Given the description of an element on the screen output the (x, y) to click on. 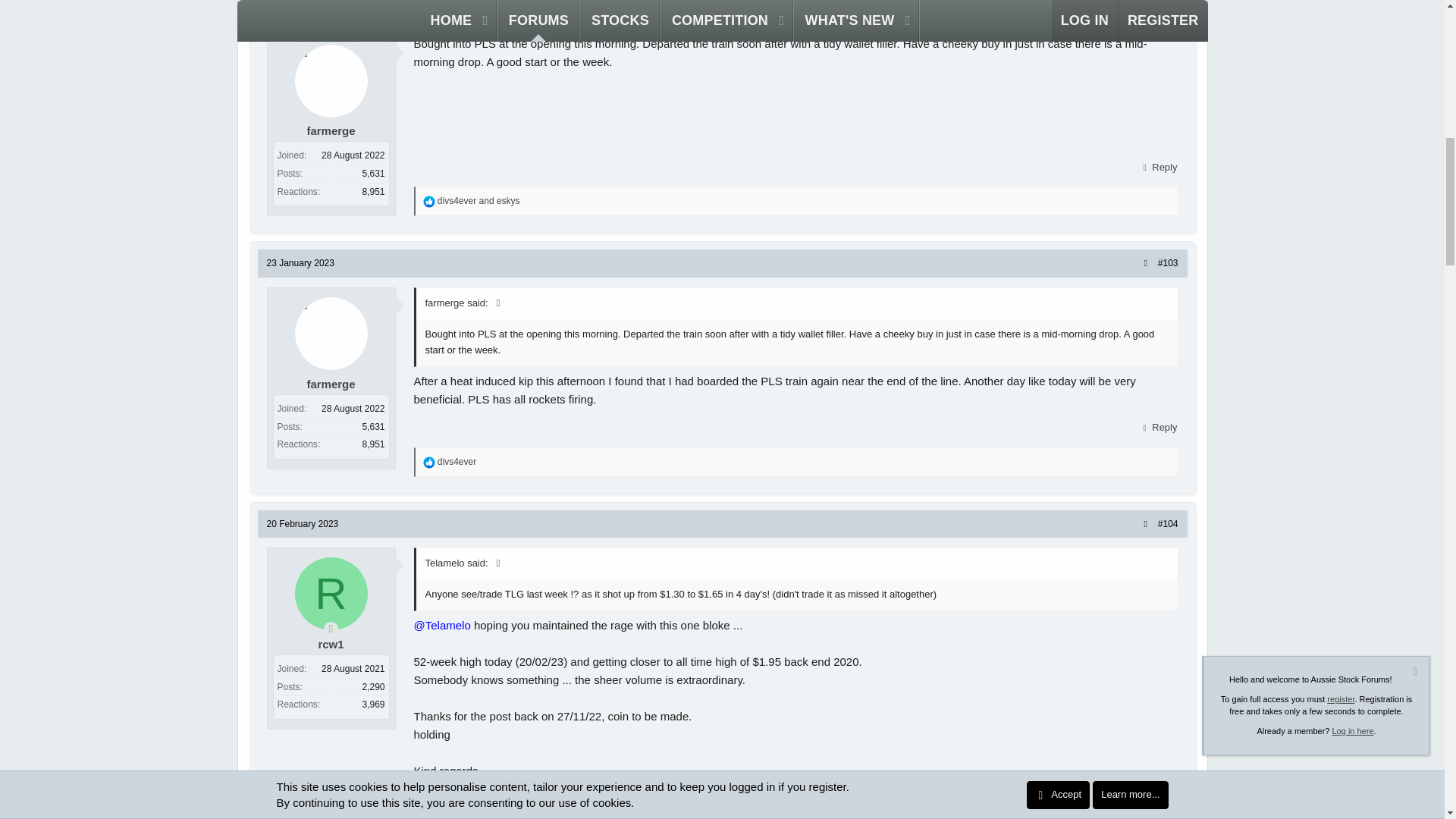
Like (429, 462)
23 January 2023 at 11:31 AM (300, 9)
Online now (330, 627)
20 February 2023 at 2:06 PM (302, 523)
Reply, quoting this message (1158, 167)
23 January 2023 at 5:41 PM (300, 262)
Reply, quoting this message (1158, 427)
Like (429, 201)
